Given the description of an element on the screen output the (x, y) to click on. 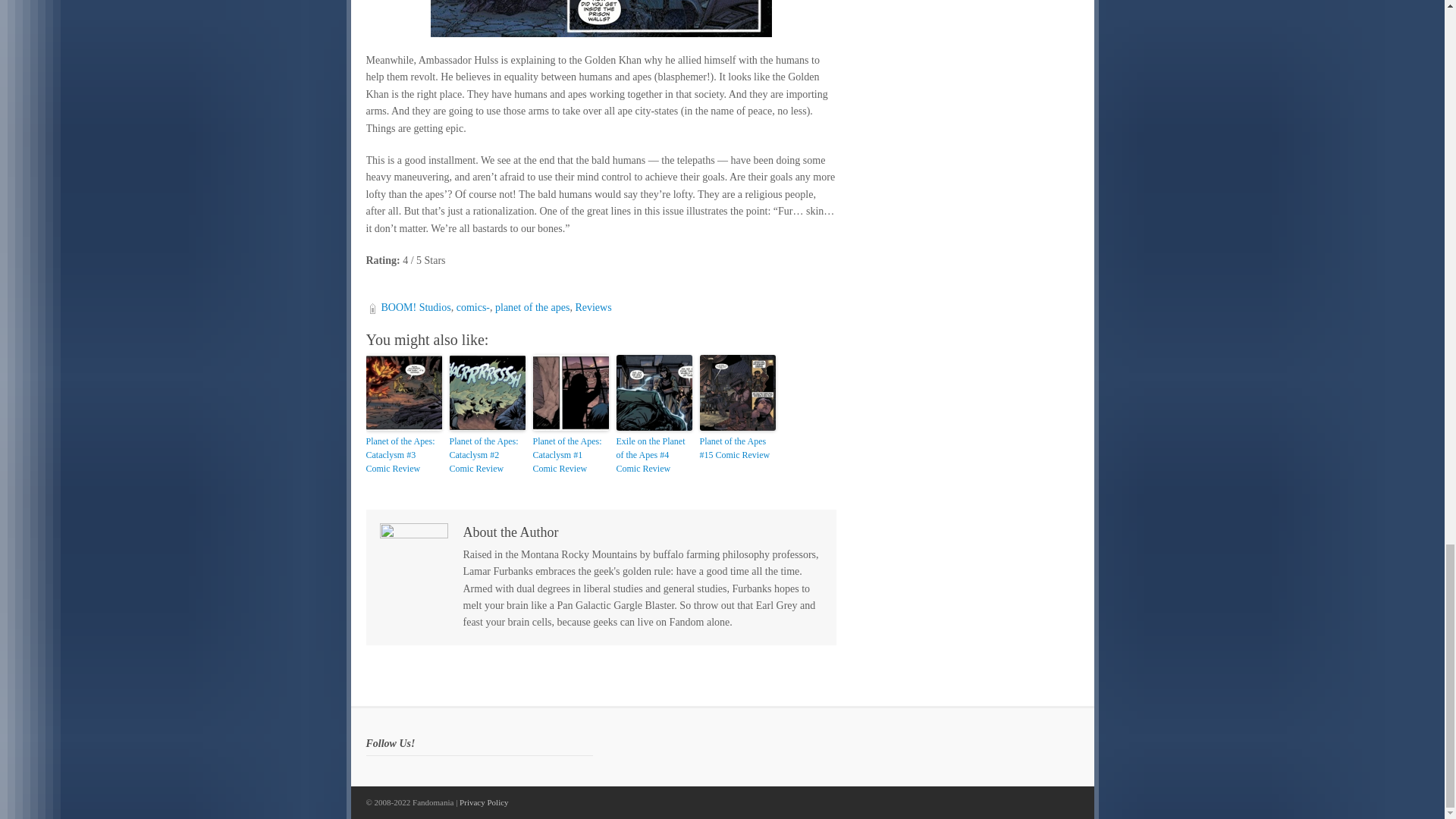
planet of the apes (532, 307)
Reviews (593, 307)
planetoftheapes16-3 (600, 18)
comics- (473, 307)
BOOM! Studios (414, 307)
